Given the description of an element on the screen output the (x, y) to click on. 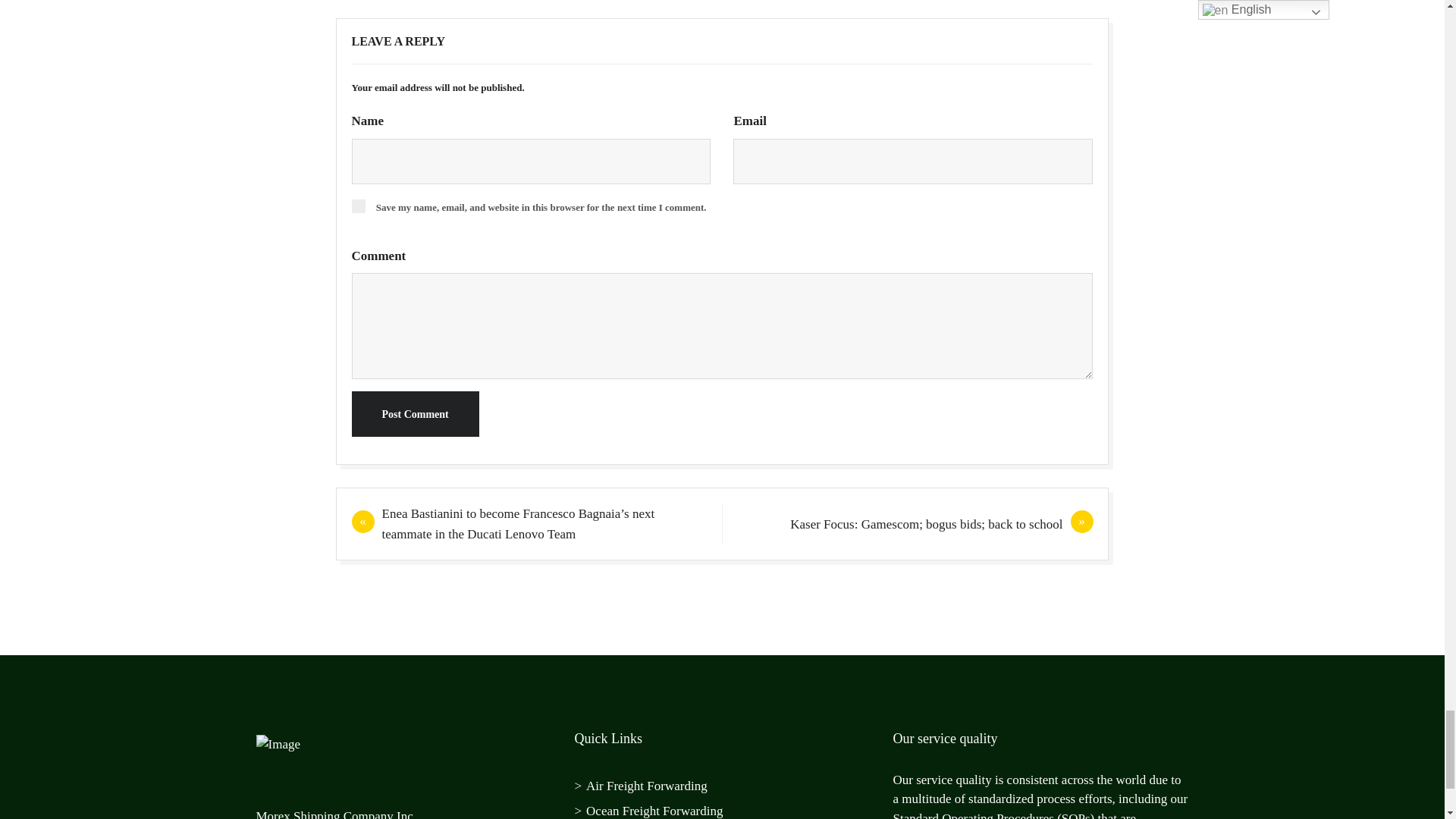
yes (358, 205)
